Given the description of an element on the screen output the (x, y) to click on. 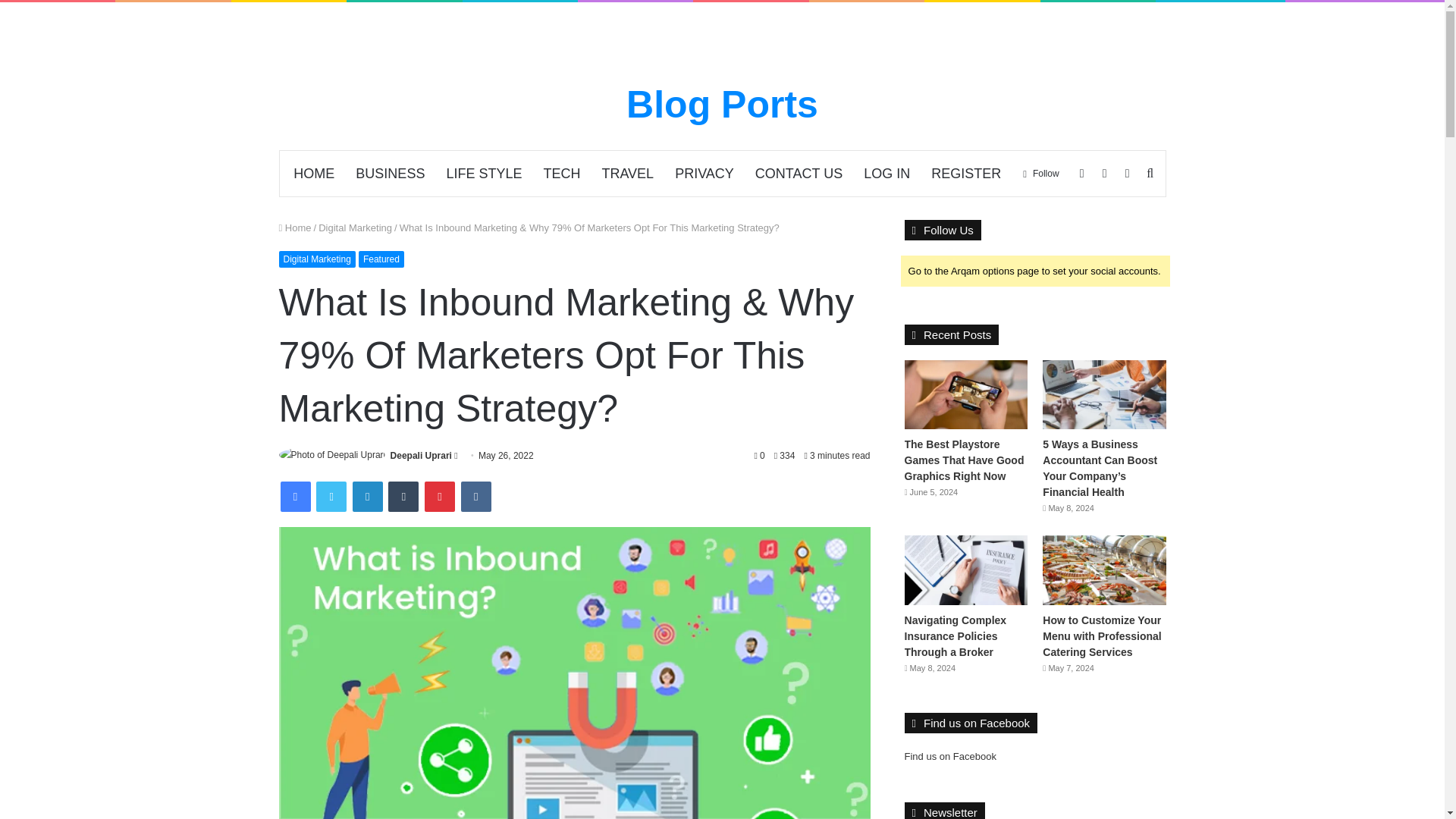
Facebook (296, 496)
Blog Ports (722, 104)
Pinterest (439, 496)
Twitter (330, 496)
TECH (561, 173)
BUSINESS (390, 173)
HOME (313, 173)
LinkedIn (367, 496)
Facebook (296, 496)
Deepali Uprari (420, 455)
Tumblr (403, 496)
REGISTER (965, 173)
LOG IN (886, 173)
Follow (1040, 173)
Twitter (330, 496)
